Given the description of an element on the screen output the (x, y) to click on. 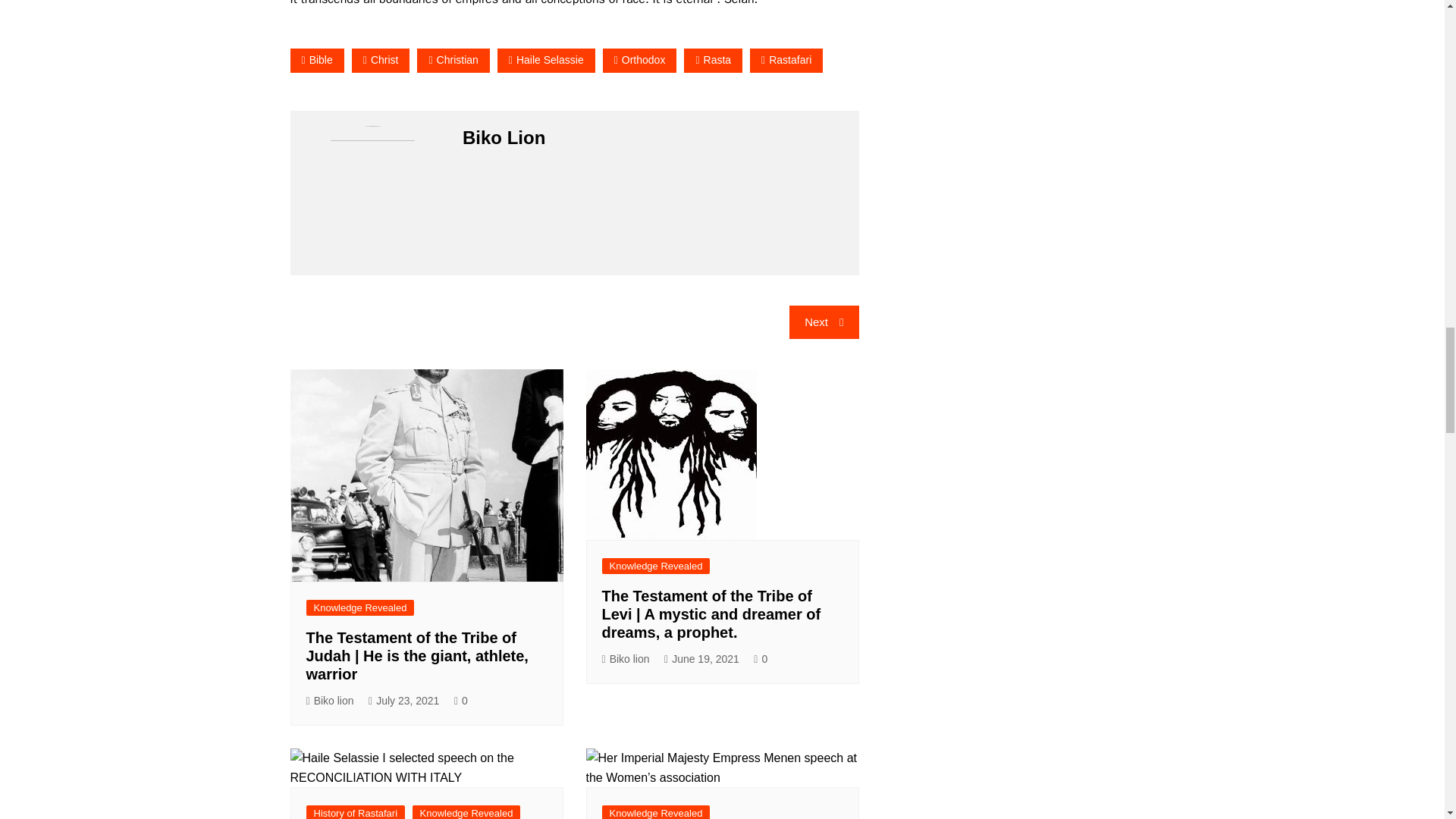
Christian (452, 60)
Haile Selassie (546, 60)
Christ (381, 60)
Orthodox (639, 60)
Bible (316, 60)
Rasta (713, 60)
